Given the description of an element on the screen output the (x, y) to click on. 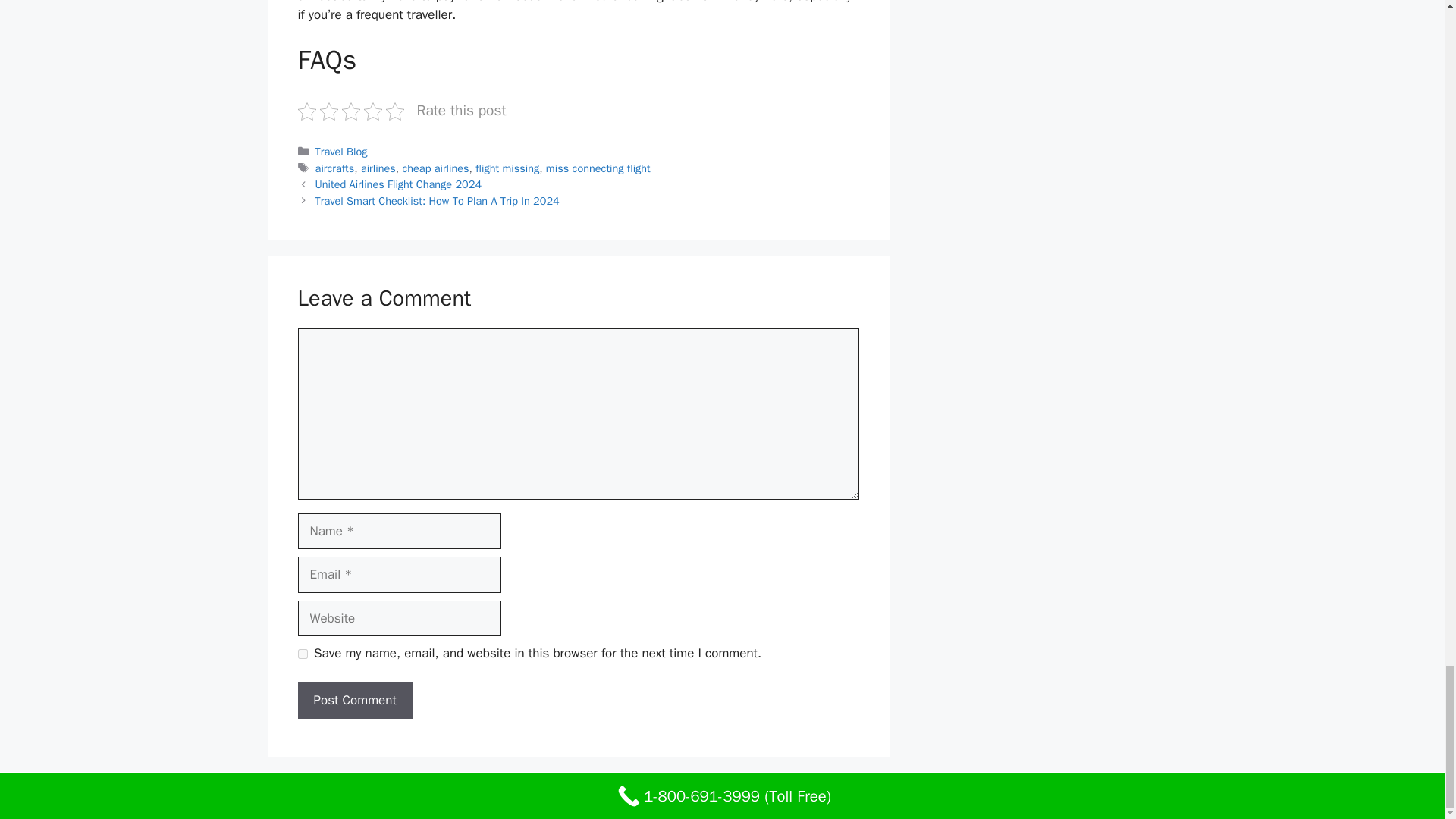
United Airlines Flight Change 2024 (398, 183)
airlines (378, 168)
flight missing (507, 168)
cheap airlines (434, 168)
miss connecting flight (598, 168)
GeneratePress (906, 795)
yes (302, 654)
Post Comment (354, 700)
Travel Blog (341, 151)
Post Comment (354, 700)
aircrafts (335, 168)
Travel Smart Checklist: How To Plan A Trip In 2024 (437, 201)
